Given the description of an element on the screen output the (x, y) to click on. 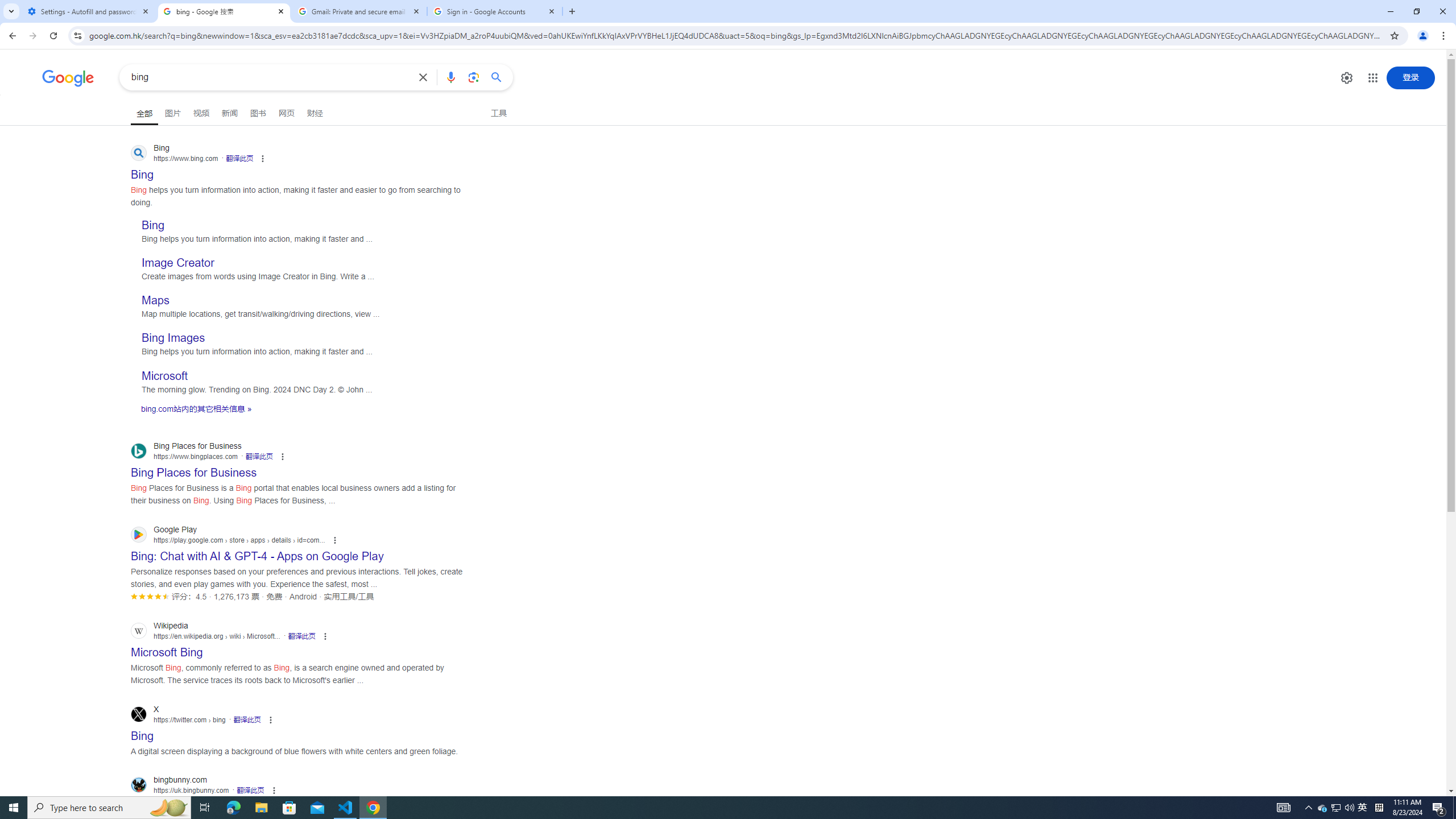
Sign in - Google Accounts (494, 11)
Bing (152, 224)
Bing Images (173, 337)
